Given the description of an element on the screen output the (x, y) to click on. 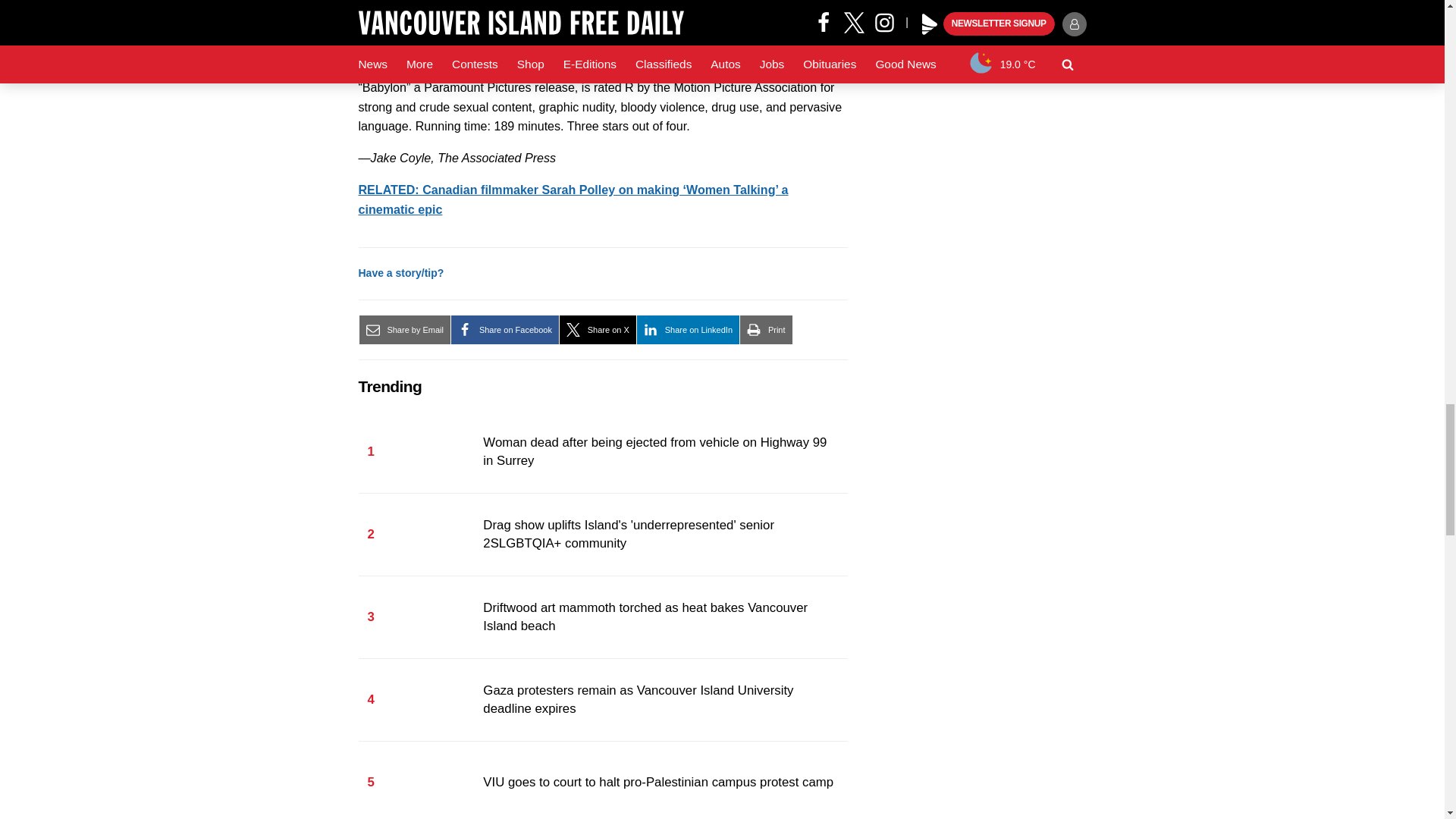
related story (572, 199)
